Given the description of an element on the screen output the (x, y) to click on. 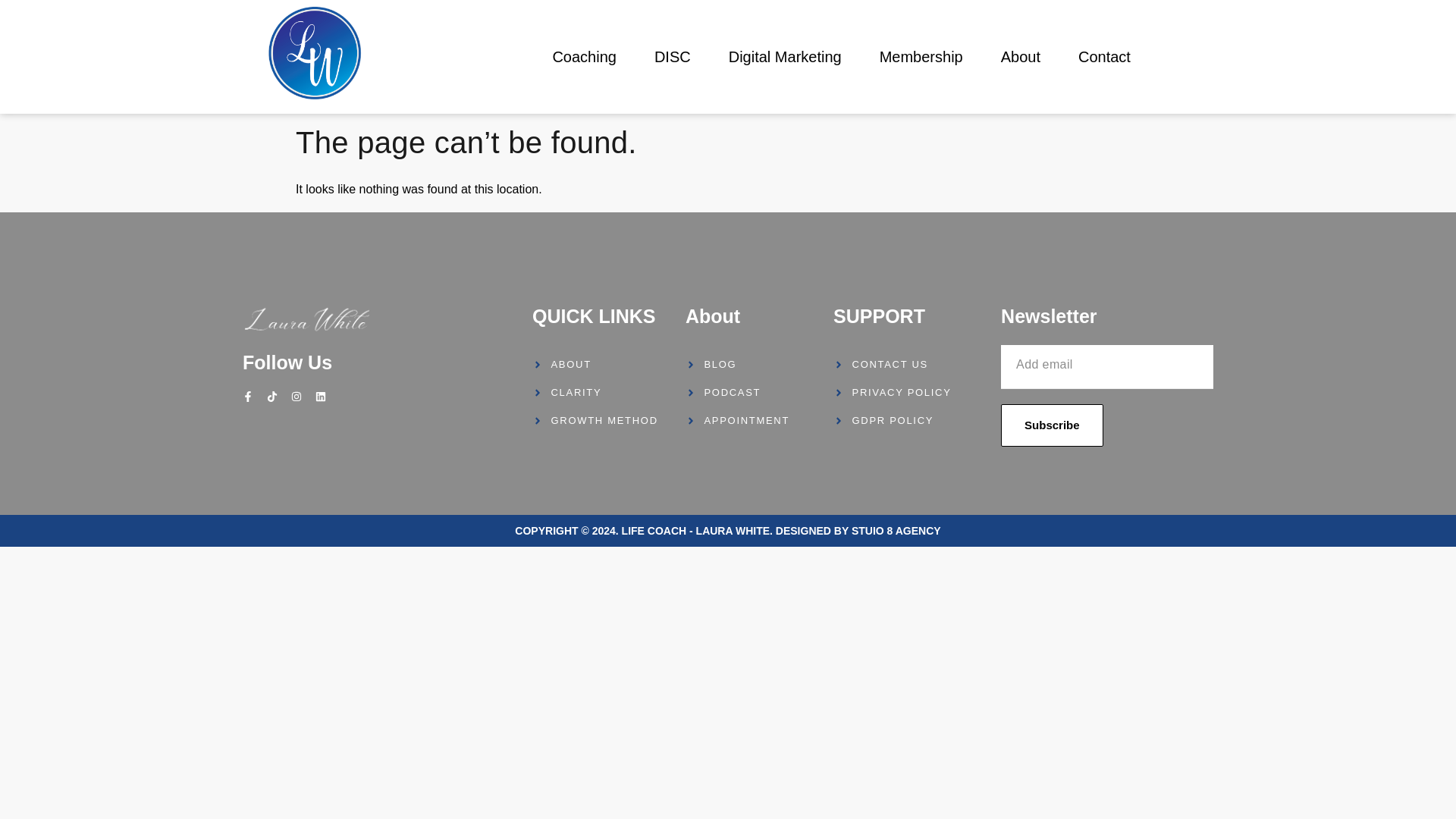
Digital Marketing (785, 56)
PRIVACY POLICY (912, 392)
PODCAST (751, 392)
CLARITY (605, 392)
GDPR POLICY (912, 420)
Membership (920, 56)
Coaching (583, 56)
About (1020, 56)
BLOG (751, 364)
CONTACT US (912, 364)
Contact (1104, 56)
ABOUT (605, 364)
GROWTH METHOD (605, 420)
Subscribe (1052, 425)
DISC (672, 56)
